Given the description of an element on the screen output the (x, y) to click on. 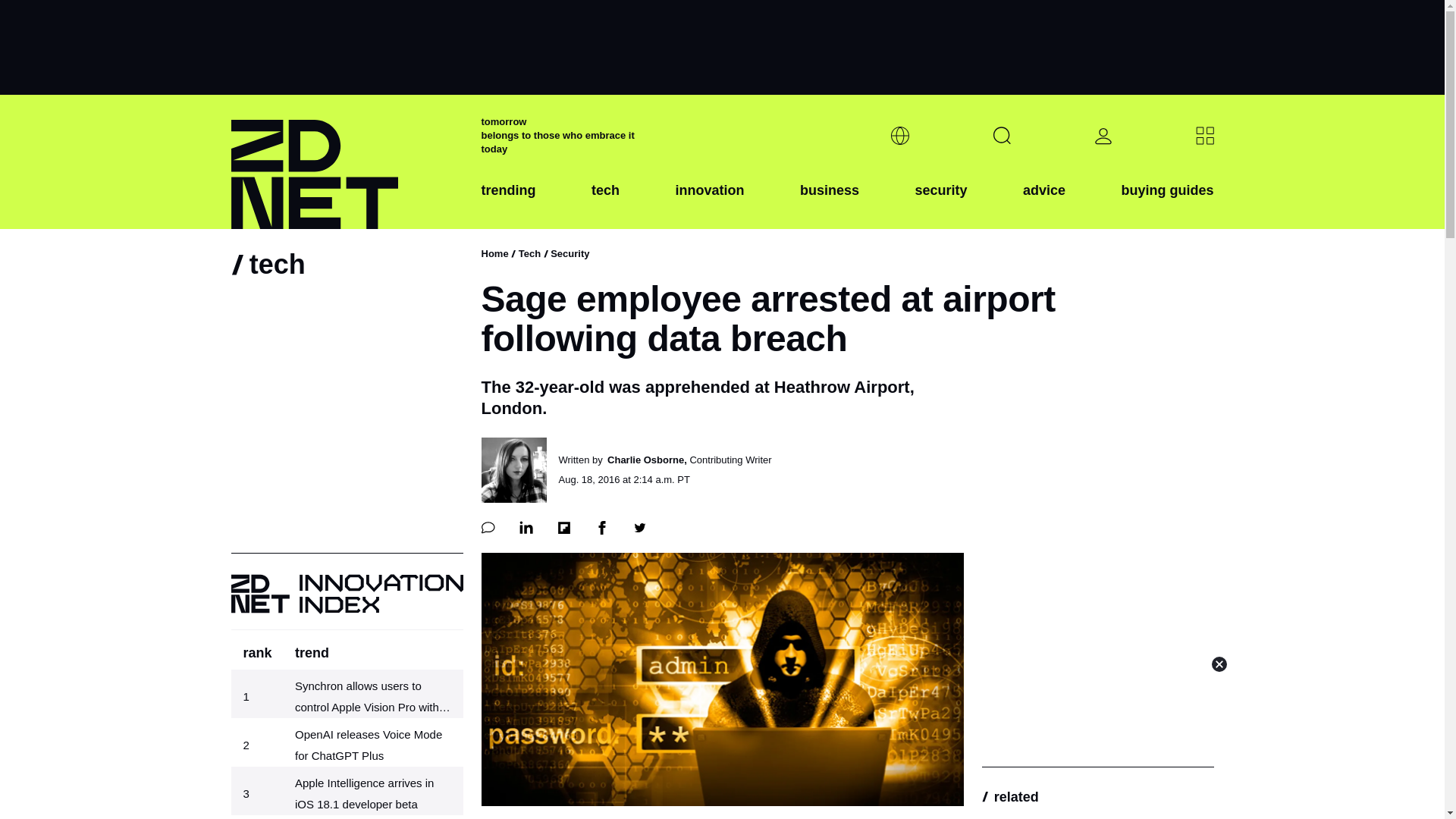
trending (507, 202)
ZDNET (346, 162)
